Given the description of an element on the screen output the (x, y) to click on. 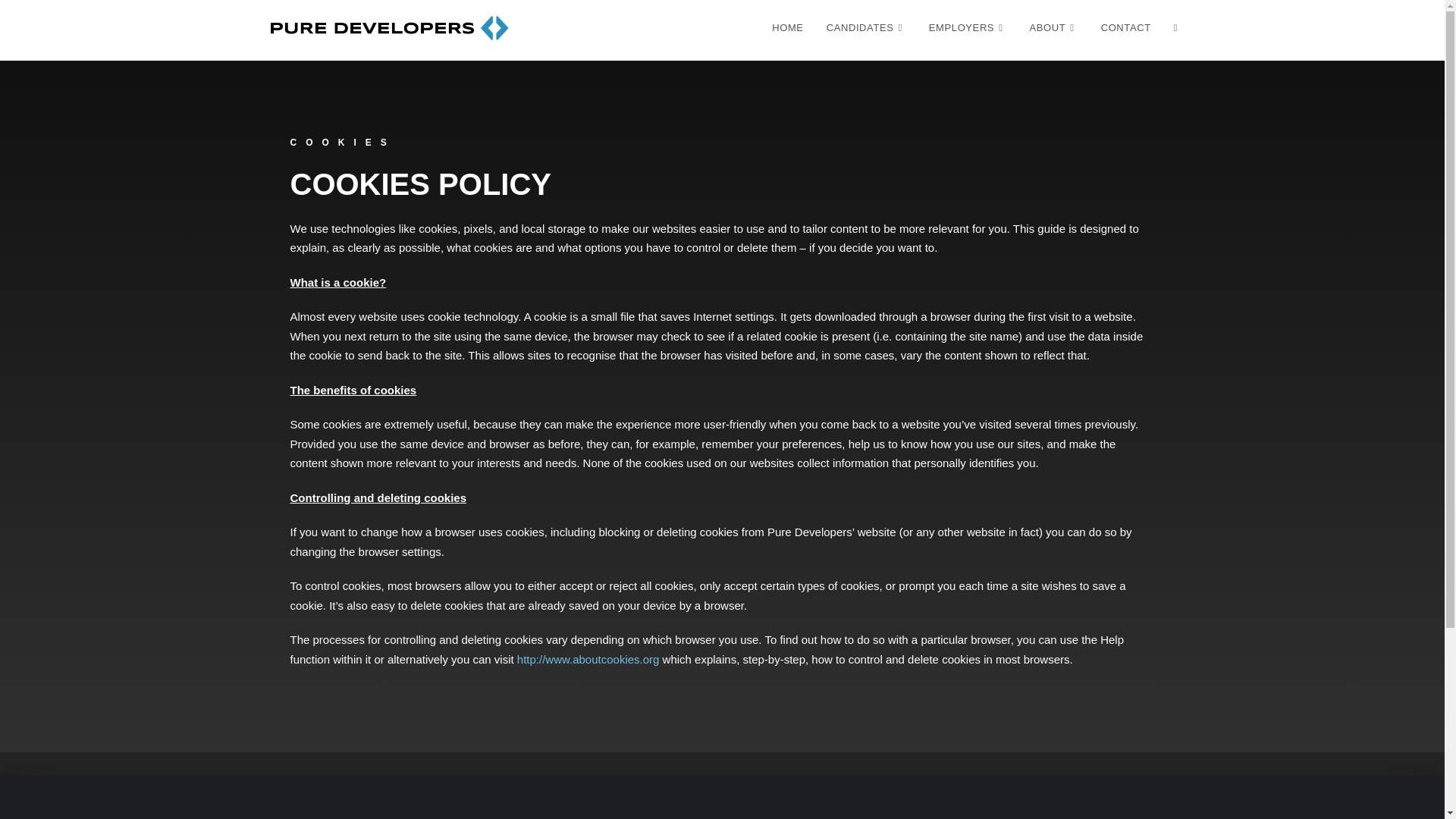
CANDIDATES (866, 28)
EMPLOYERS (967, 28)
HOME (786, 28)
ABOUT (1053, 28)
CONTACT (1125, 28)
